Given the description of an element on the screen output the (x, y) to click on. 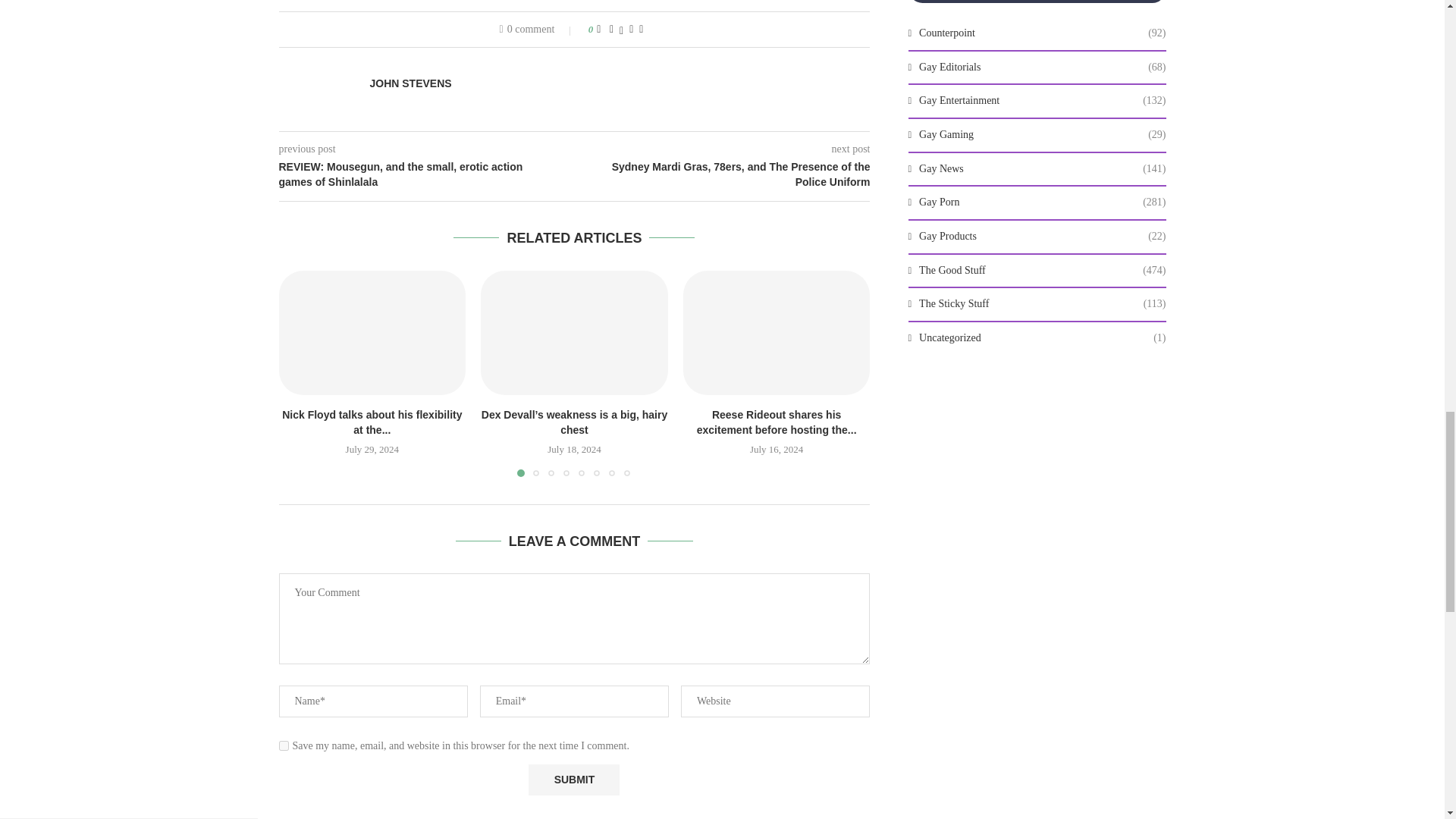
Author John Stevens (410, 83)
Submit (574, 779)
yes (283, 746)
Nick Floyd talks about his flexibility at the GayVNs 2024 (372, 332)
